Given the description of an element on the screen output the (x, y) to click on. 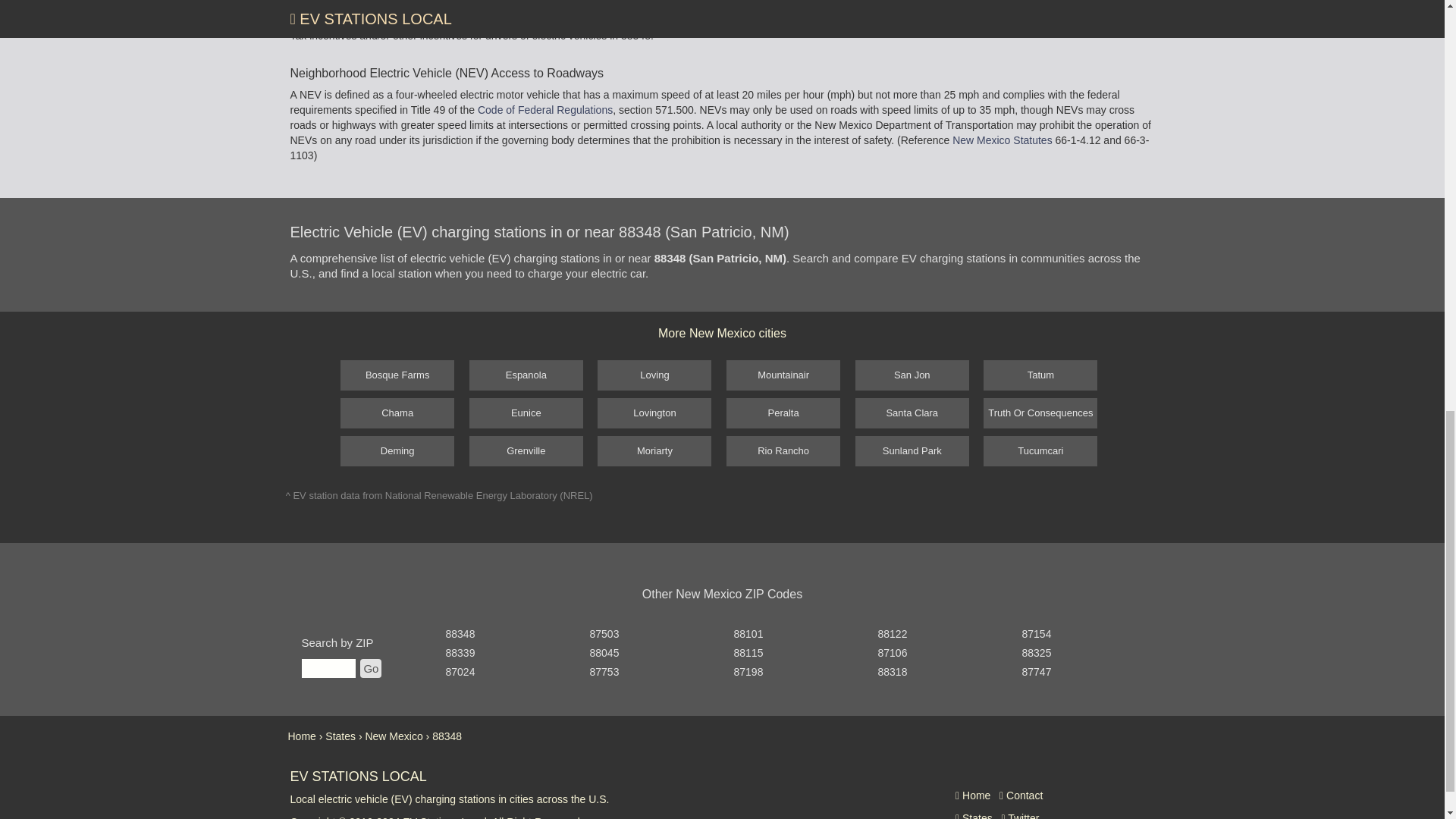
88045 (604, 653)
88339 (460, 653)
Espanola EV Charging Stations (525, 375)
87024 (460, 671)
Go (370, 668)
Code of Federal Regulations (544, 110)
Loving (653, 375)
Bosque Farms EV Charging Stations (397, 375)
Lovington (653, 413)
Deming EV Charging Stations (397, 450)
